Given the description of an element on the screen output the (x, y) to click on. 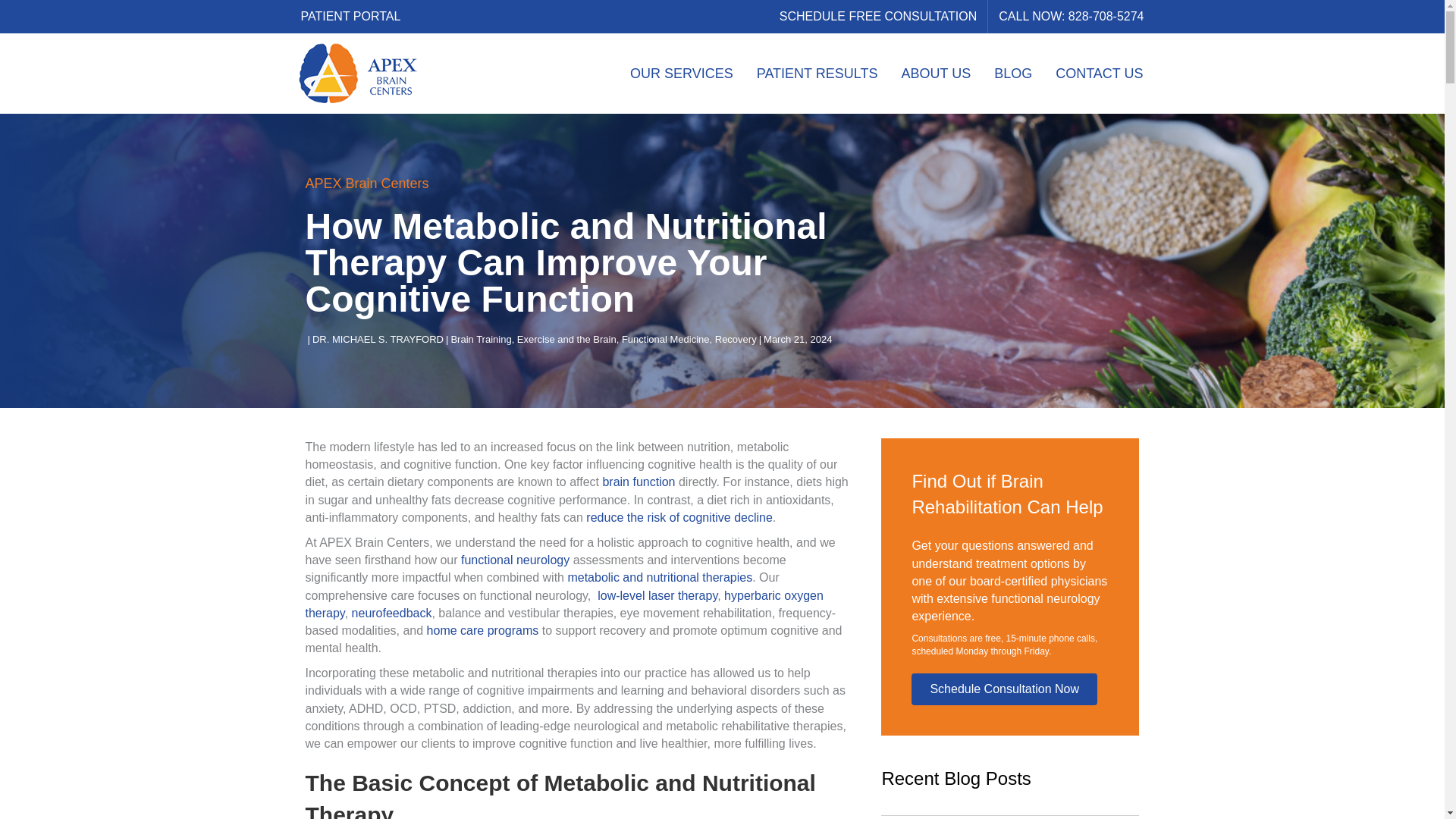
Recovery (735, 338)
logo (356, 73)
OUR SERVICES (680, 73)
SCHEDULE FREE CONSULTATION (877, 16)
PATIENT RESULTS (816, 73)
CONTACT US (1098, 73)
CALL NOW: 828-708-5274 (1071, 16)
Brain Training (480, 338)
Functional Medicine (665, 338)
ABOUT US (934, 73)
BLOG (1012, 73)
DR. MICHAEL S. TRAYFORD (378, 338)
PATIENT PORTAL (349, 16)
Exercise and the Brain (565, 338)
